Given the description of an element on the screen output the (x, y) to click on. 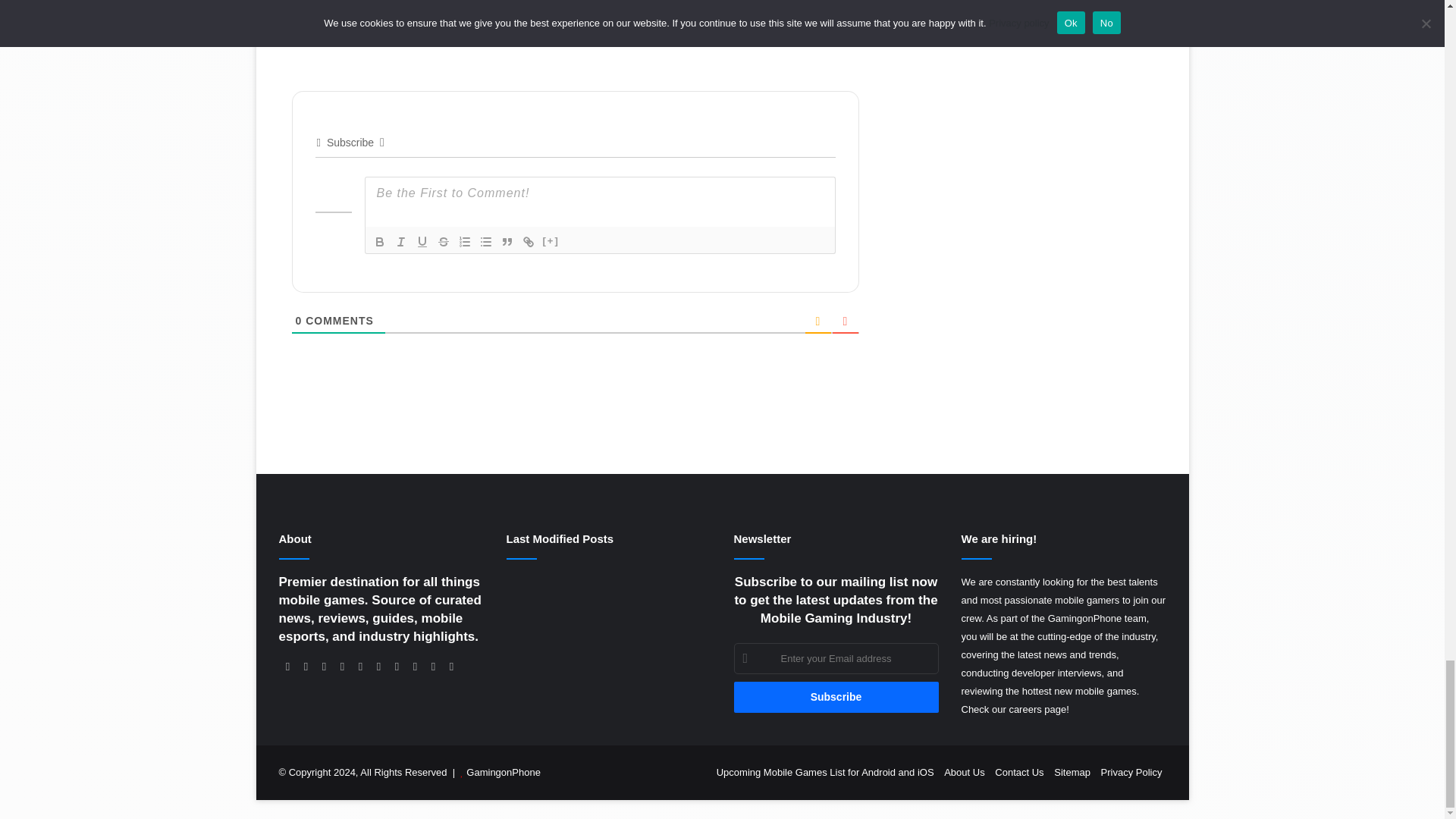
Google News (608, 12)
Bold (379, 241)
Unordered List (485, 241)
Strike (442, 241)
Blockquote (506, 241)
Italic (400, 241)
Underline (421, 241)
Link (527, 241)
Subscribe (836, 696)
Ordered List (463, 241)
